Given the description of an element on the screen output the (x, y) to click on. 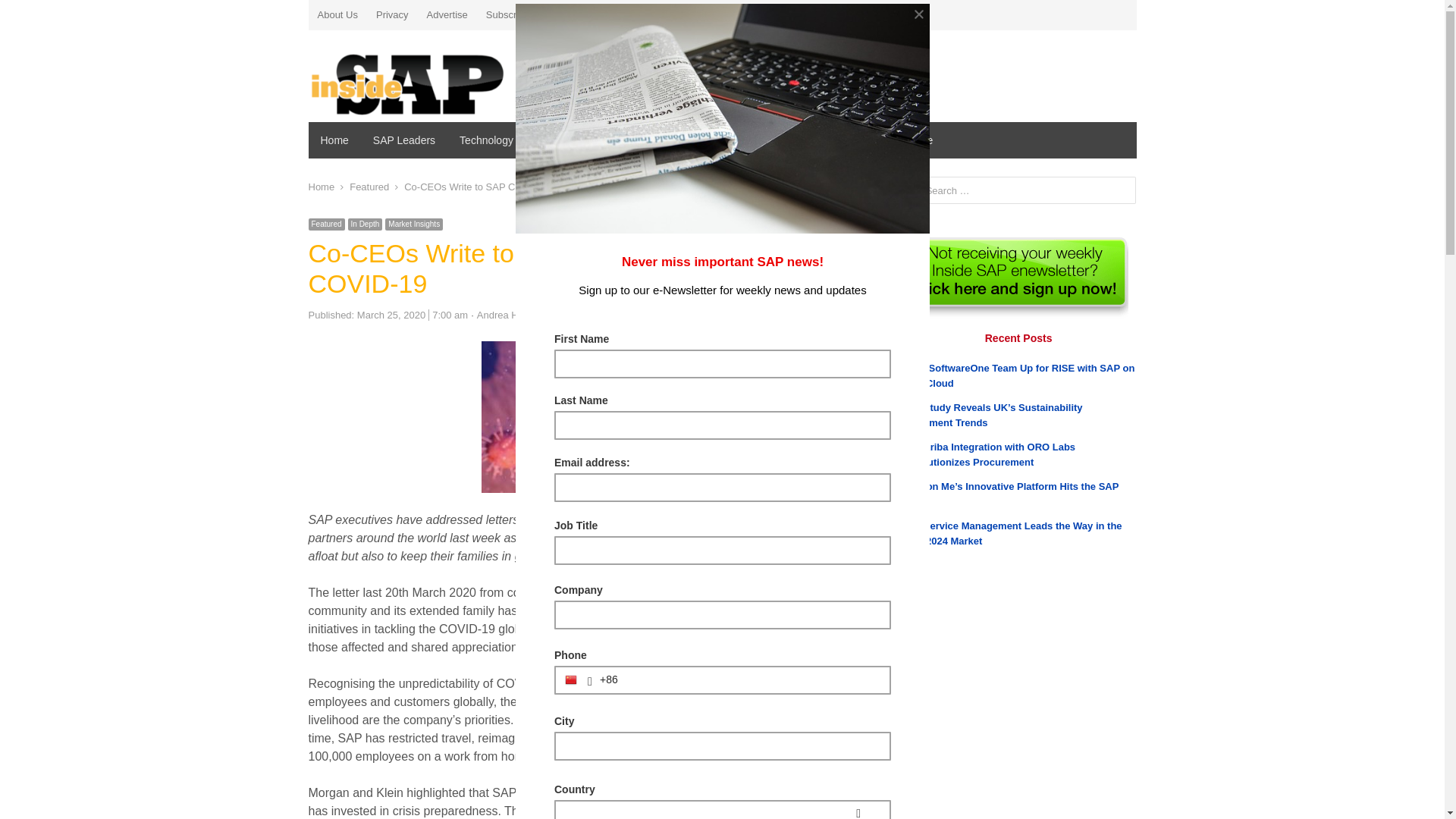
Subscribe Element type: text (507, 15)
SAP Service Management Leads the Way in the 2023-2024 Market Element type: text (1011, 533)
Advertise Element type: text (446, 15)
Hot Topics Element type: text (649, 140)
Events Element type: text (818, 140)
2022 Element type: text (911, 604)
Featured Element type: text (325, 224)
Case Studies Element type: text (568, 140)
Home Element type: text (333, 140)
Search Element type: text (27, 13)
2021 Element type: text (911, 628)
AWS, SoftwareOne Team Up for RISE with SAP on AWS Cloud Element type: text (1017, 375)
In Depth Element type: text (365, 224)
Market Insights Element type: text (413, 224)
2019 Element type: text (911, 677)
Andrea Hilao Element type: text (504, 314)
SAP Consultants Element type: text (738, 140)
Featured Element type: text (369, 186)
Privacy Element type: text (392, 15)
Contact Us Element type: text (572, 15)
2014 Element type: text (911, 798)
Solution Centre Element type: text (896, 140)
2023 Element type: text (911, 580)
Technology Element type: text (486, 140)
SAP Leaders Element type: text (403, 140)
2020 Element type: text (911, 652)
About Us Element type: text (336, 15)
Home Element type: text (320, 186)
InsideSAP Element type: hover (440, 78)
2016 Element type: text (911, 750)
2017 Element type: text (911, 725)
2015 Element type: text (911, 774)
2018 Element type: text (911, 701)
